Given the description of an element on the screen output the (x, y) to click on. 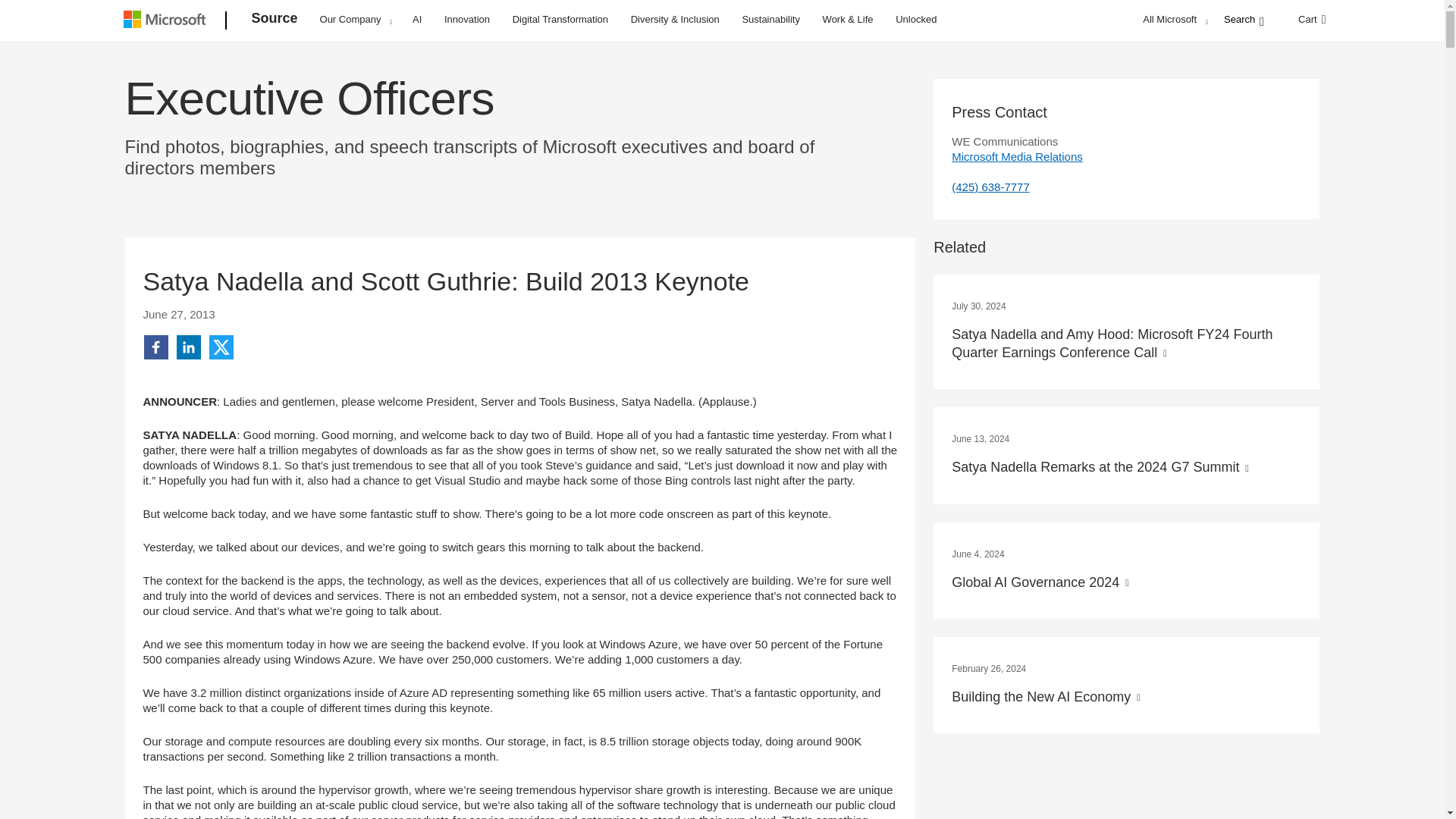
All Microsoft (1173, 18)
Digital Transformation (559, 18)
Unlocked (915, 18)
Innovation (467, 18)
Microsoft (167, 20)
Sustainability (770, 18)
Source (274, 20)
Our Company (355, 18)
